Given the description of an element on the screen output the (x, y) to click on. 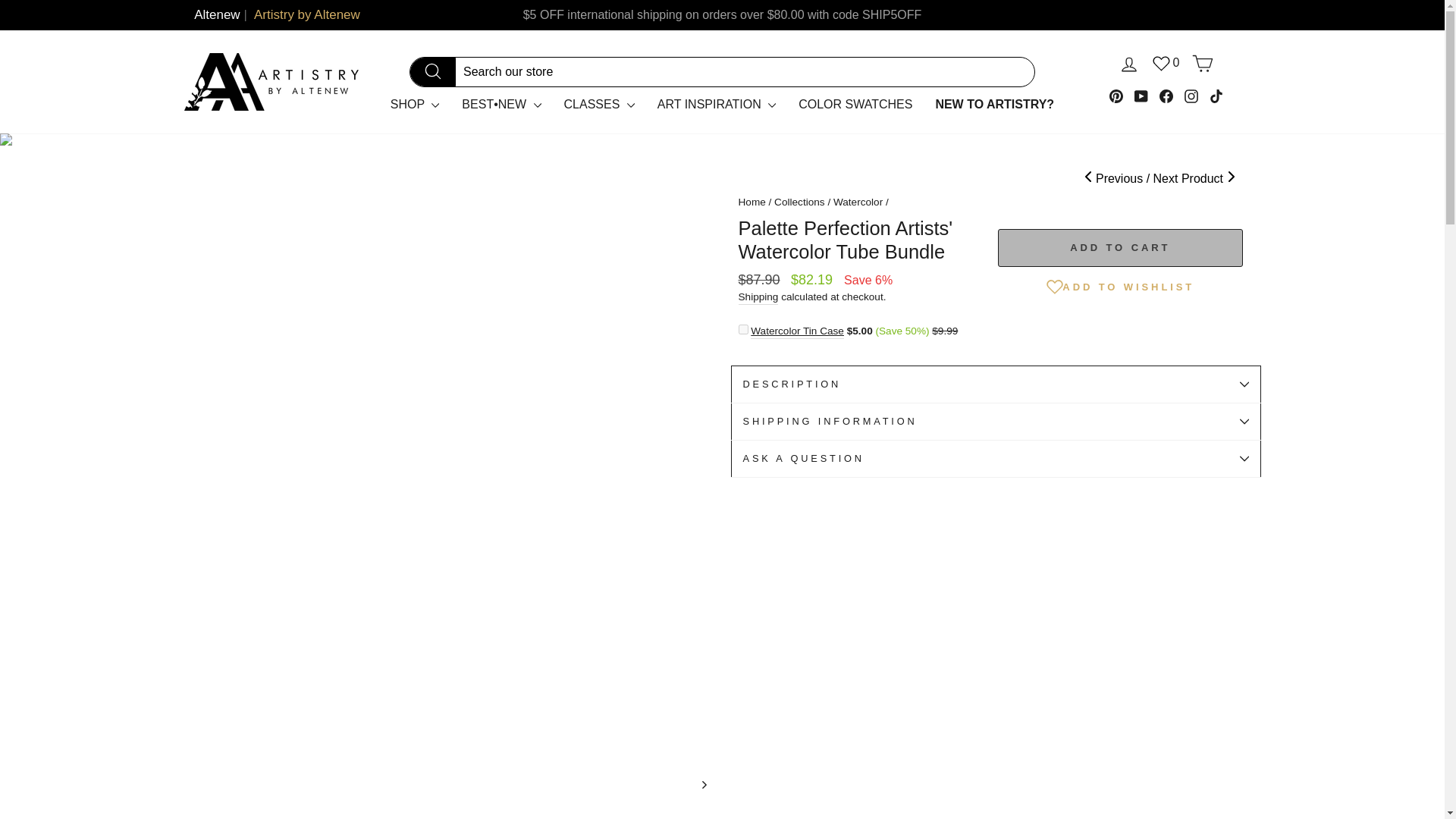
Previous product (1117, 178)
includeCheckout (743, 329)
Artistry by Altenew (306, 14)
Cart (1202, 63)
Next product (1193, 178)
Back to the frontpage (751, 202)
Account (1128, 63)
